Given the description of an element on the screen output the (x, y) to click on. 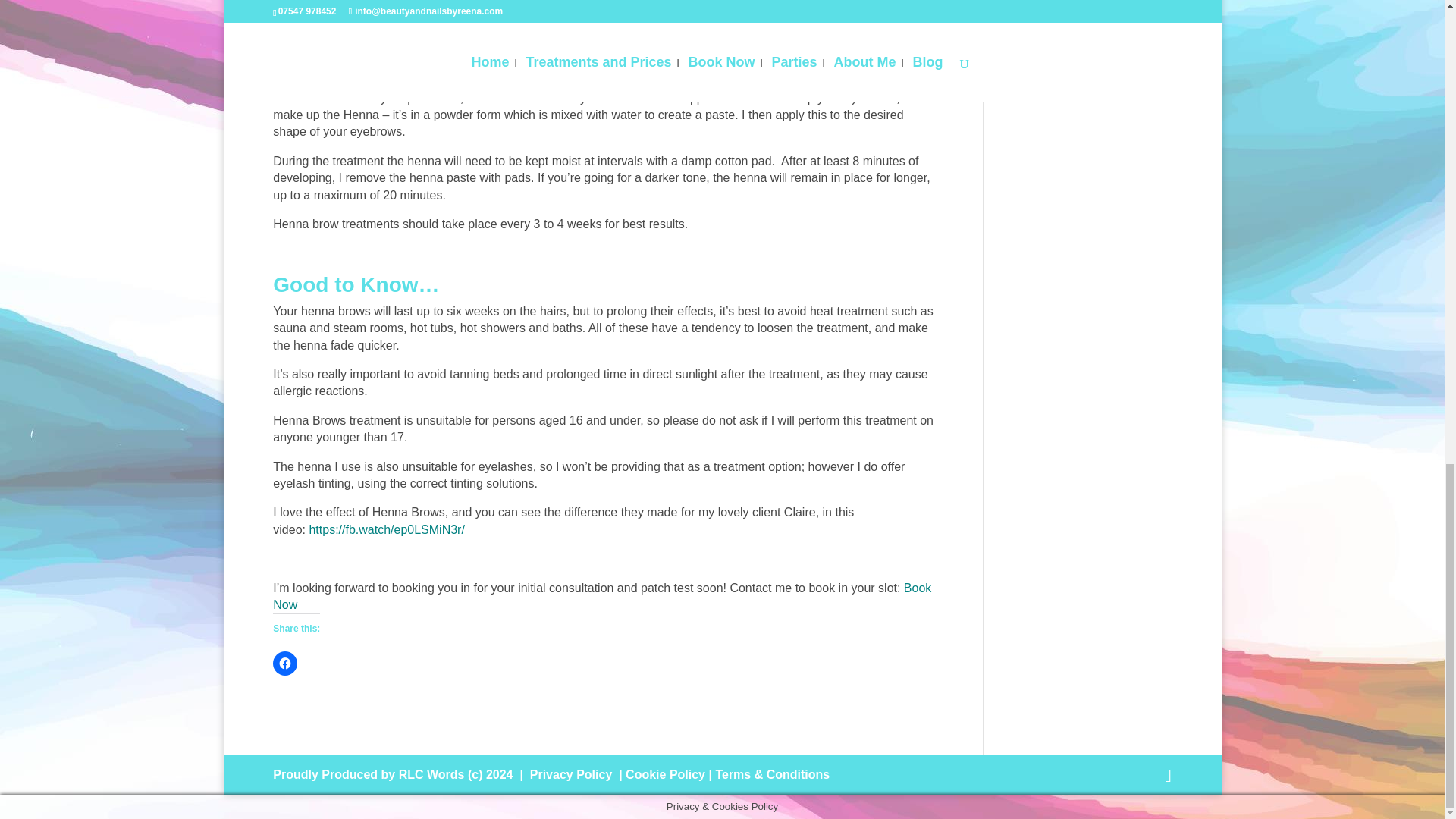
Book Now (602, 595)
Privacy Policy (570, 774)
Click to share on Facebook (285, 663)
Cookie Policy (665, 774)
